Given the description of an element on the screen output the (x, y) to click on. 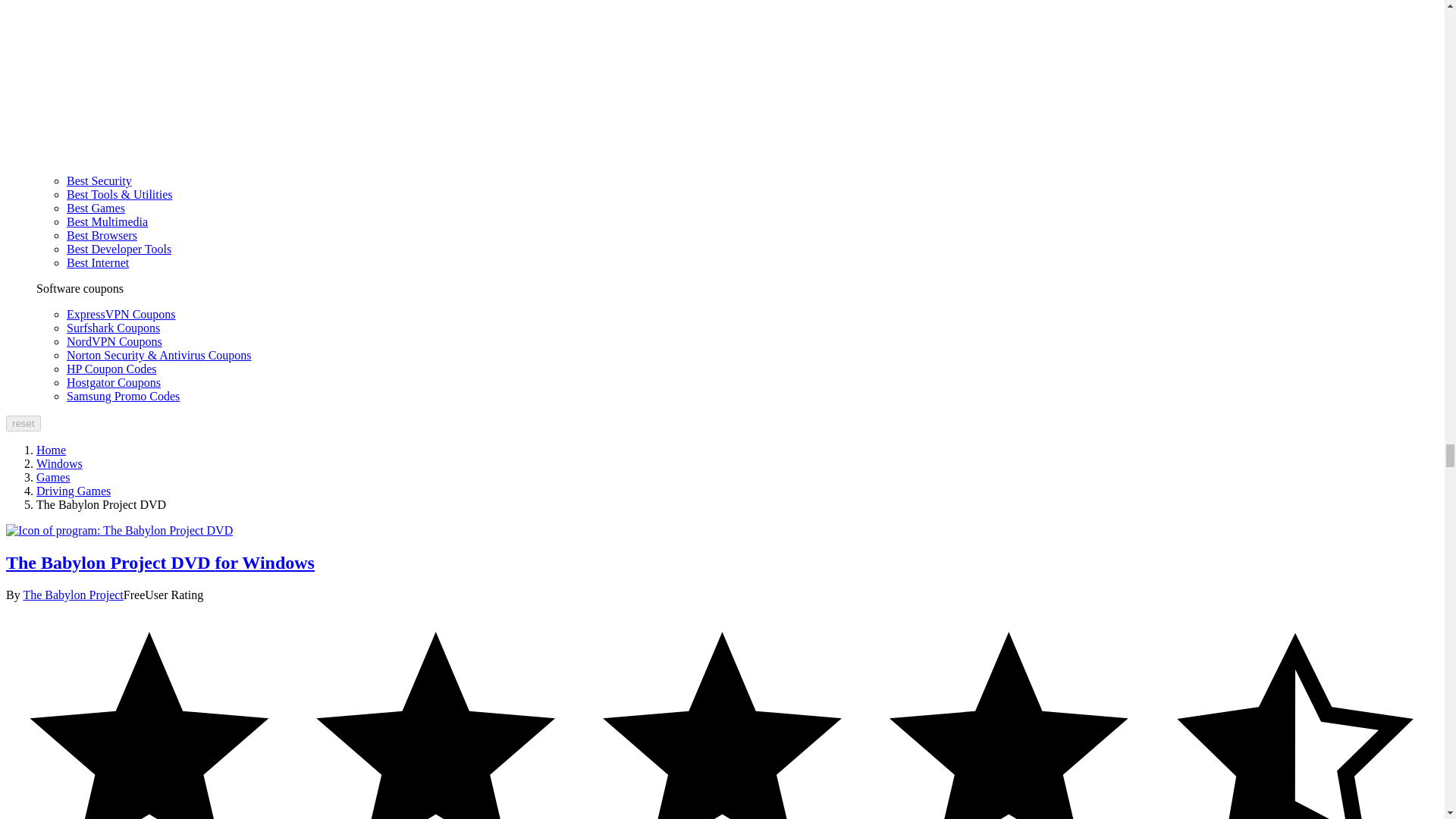
The Babylon Project DVD for Windows (118, 530)
reset (22, 423)
